Given the description of an element on the screen output the (x, y) to click on. 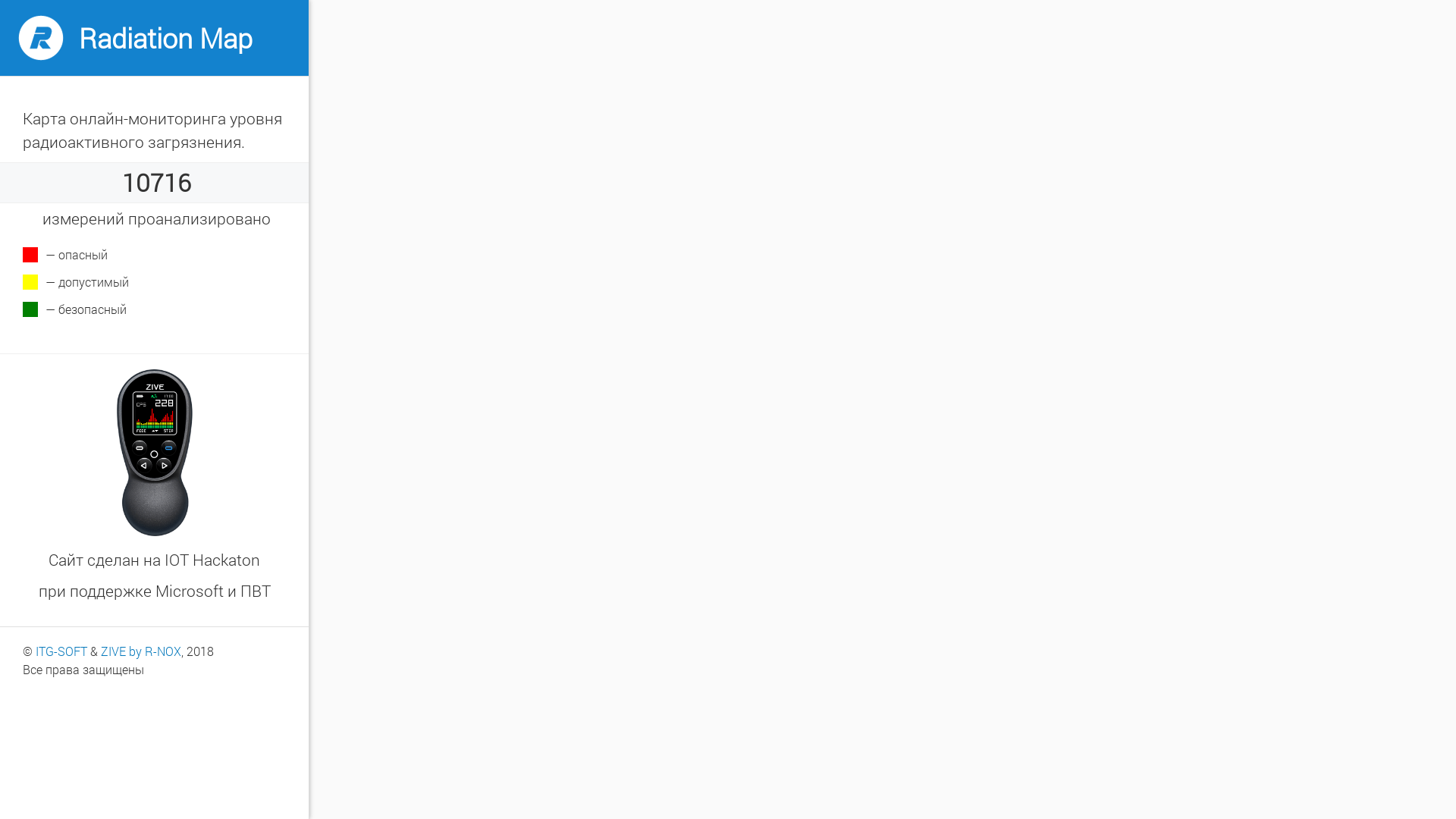
ZIVE Element type: hover (40, 37)
ZIVE Radioctive Monitor Element type: hover (154, 452)
ITG-SOFT Element type: text (61, 650)
ZIVE by R-NOX Element type: text (140, 650)
